Given the description of an element on the screen output the (x, y) to click on. 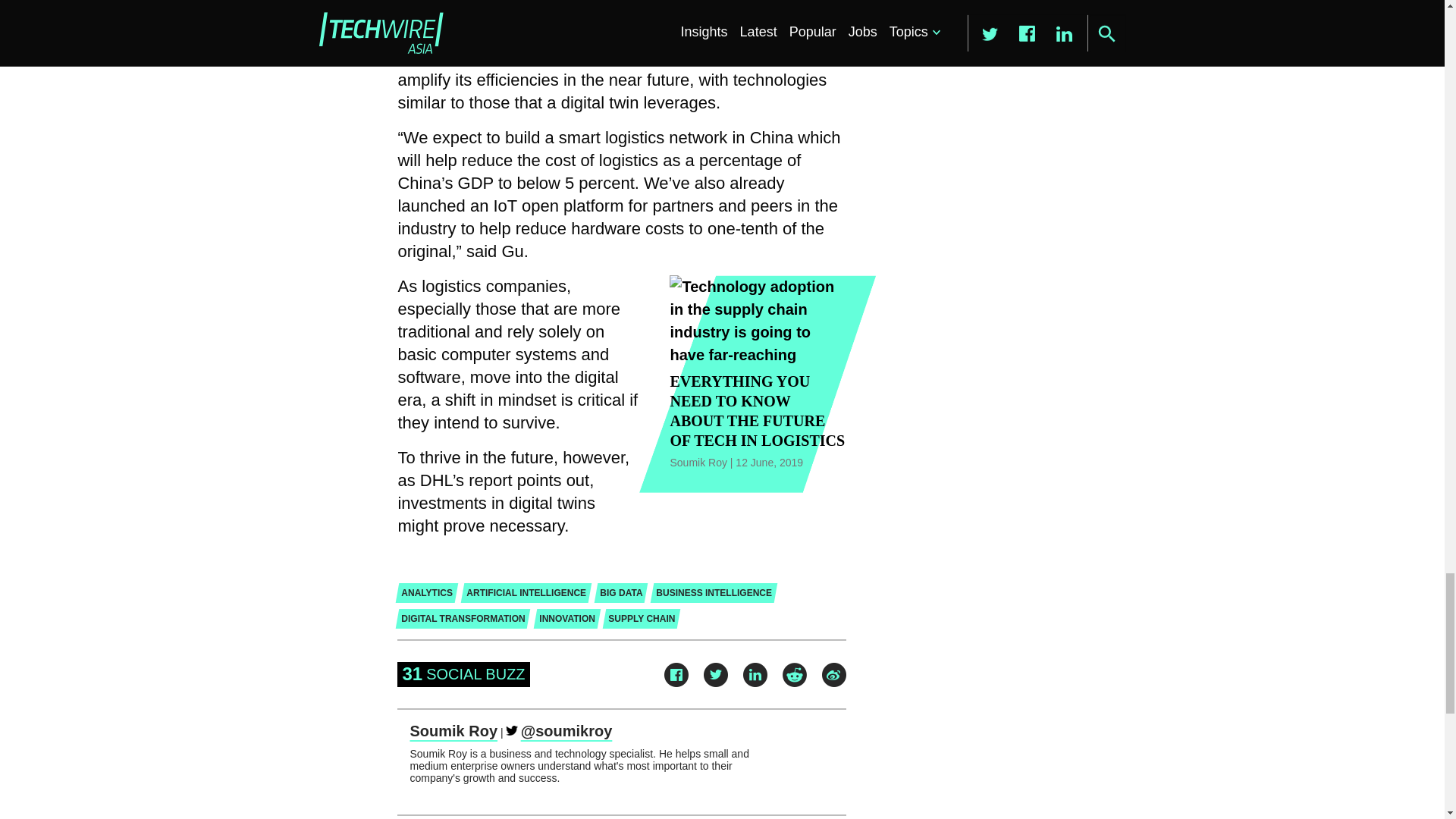
Posts by Soumik Roy (453, 730)
